Given the description of an element on the screen output the (x, y) to click on. 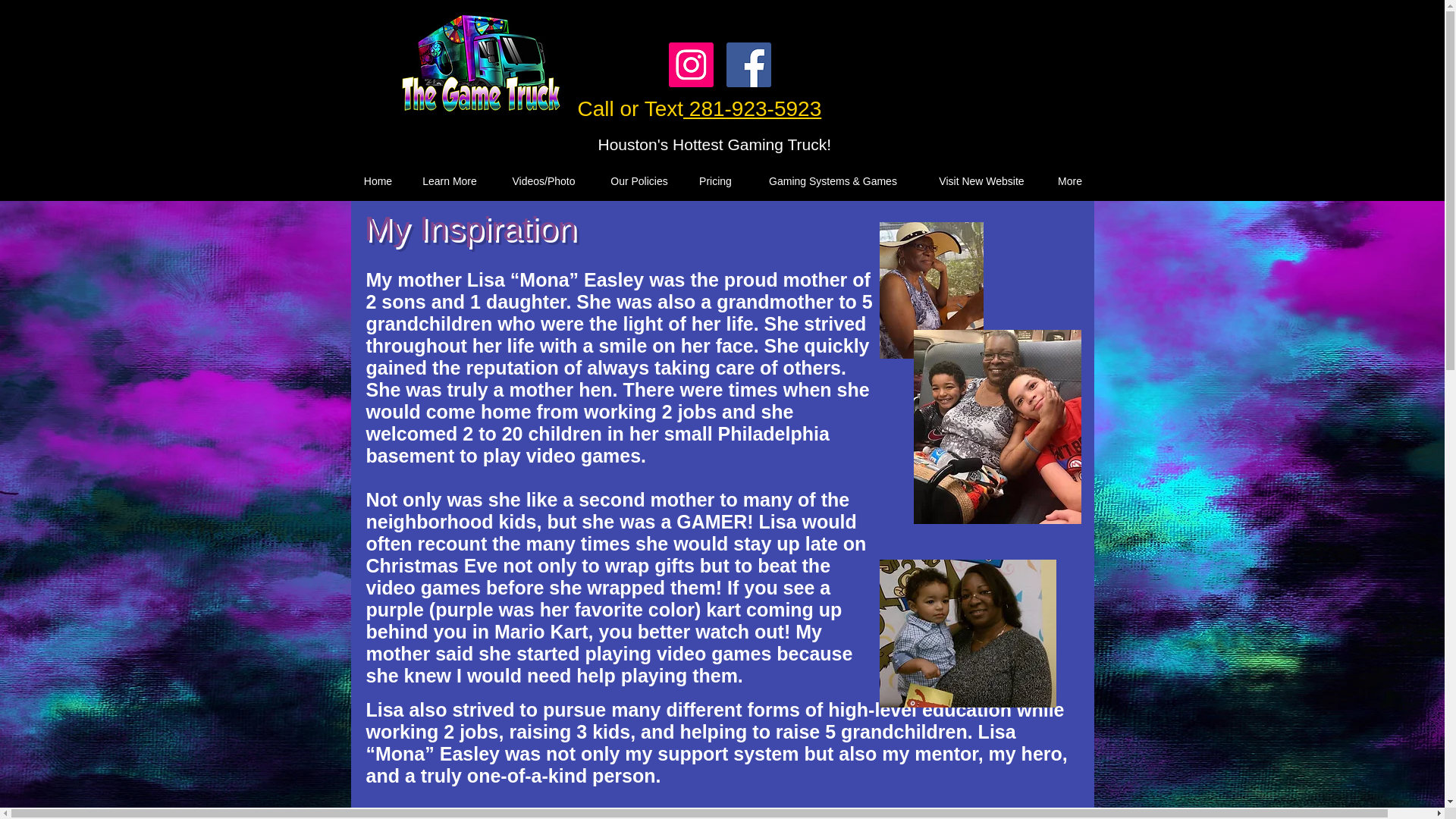
Lisa's Rolling Video Games Logo.png (480, 64)
Pricing (714, 180)
Mom and Noah (968, 633)
Visit New Website (980, 180)
Call or Text 281-923-5923 (700, 109)
Home (378, 180)
Our Policies (639, 180)
